Given the description of an element on the screen output the (x, y) to click on. 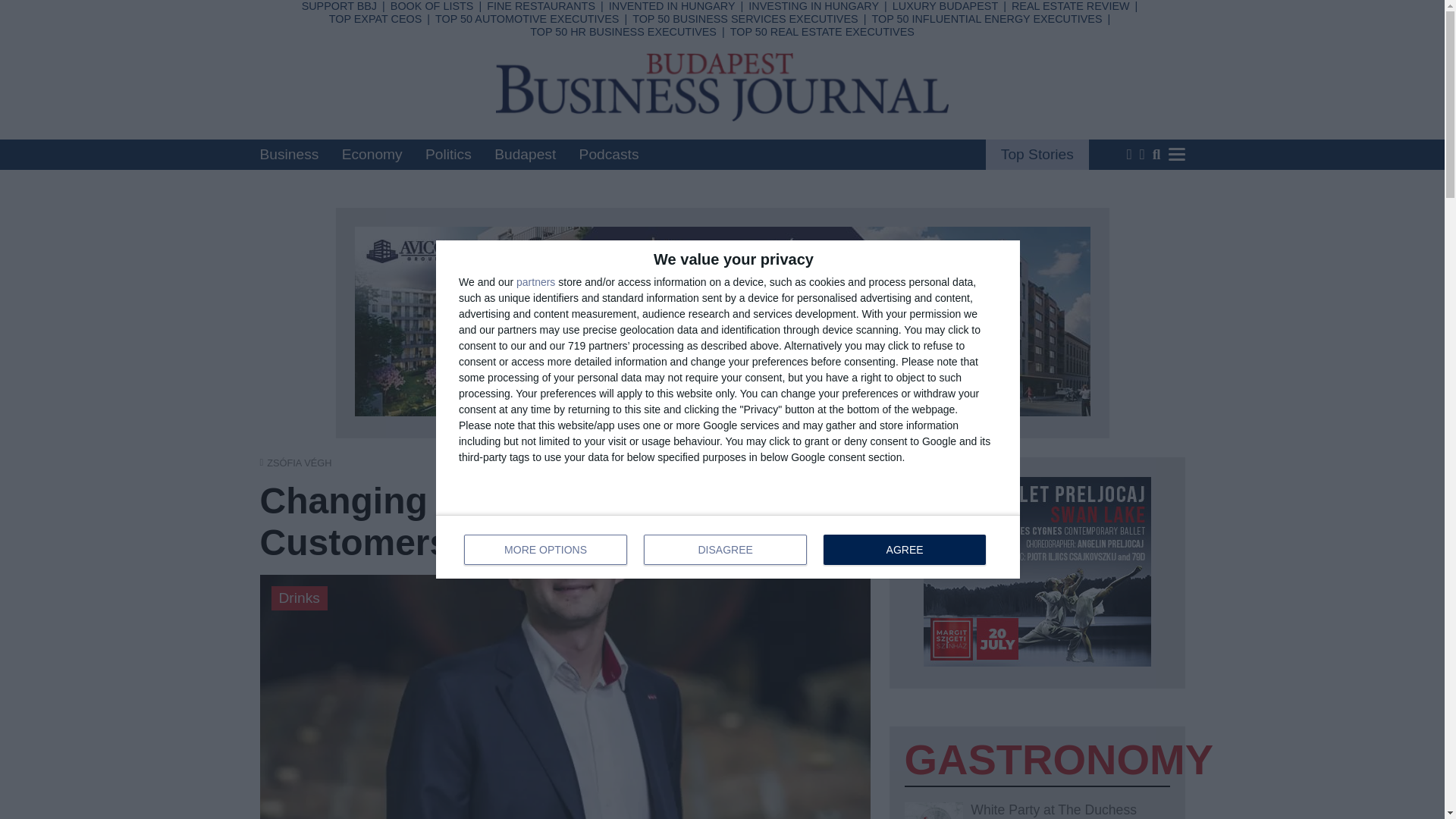
TOP 50 INFLUENTIAL ENERGY EXECUTIVES (727, 546)
BOOK OF LISTS (986, 19)
FINE RESTAURANTS (432, 6)
Real Estate (540, 6)
REAL ESTATE REVIEW (543, 53)
Economy (1070, 6)
Environment (372, 154)
Podcasts (665, 92)
INVENTED IN HUNGARY (609, 154)
Statistics (671, 6)
Tech (651, 33)
SUPPORT BBJ (517, 92)
Politics (339, 6)
TOP 50 REAL ESTATE EXECUTIVES (448, 154)
